Given the description of an element on the screen output the (x, y) to click on. 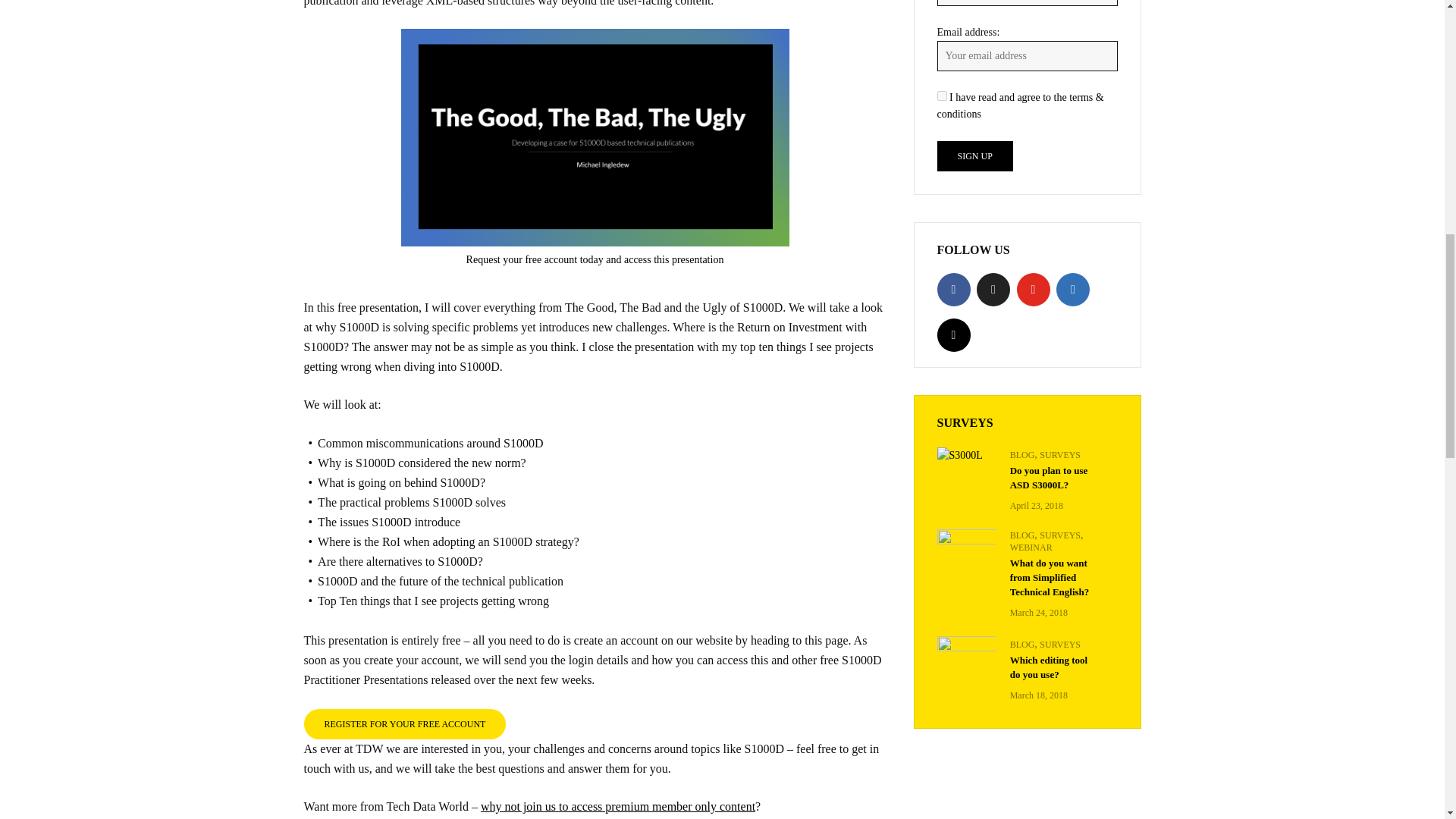
Do you plan to use ASD S3000L? (966, 455)
Sign up (975, 155)
Facebook (954, 289)
The Good, The Bad, The Ugly of S1000D (594, 137)
Linkedin (1073, 289)
Which editing tool do you use? (966, 655)
REGISTER FOR YOUR FREE ACCOUNT (403, 723)
Instagram (954, 335)
why not join us to access premium member only content (617, 806)
1 (942, 95)
What do you want from Simplified Technical English? (966, 548)
YouTube (1032, 289)
